Given the description of an element on the screen output the (x, y) to click on. 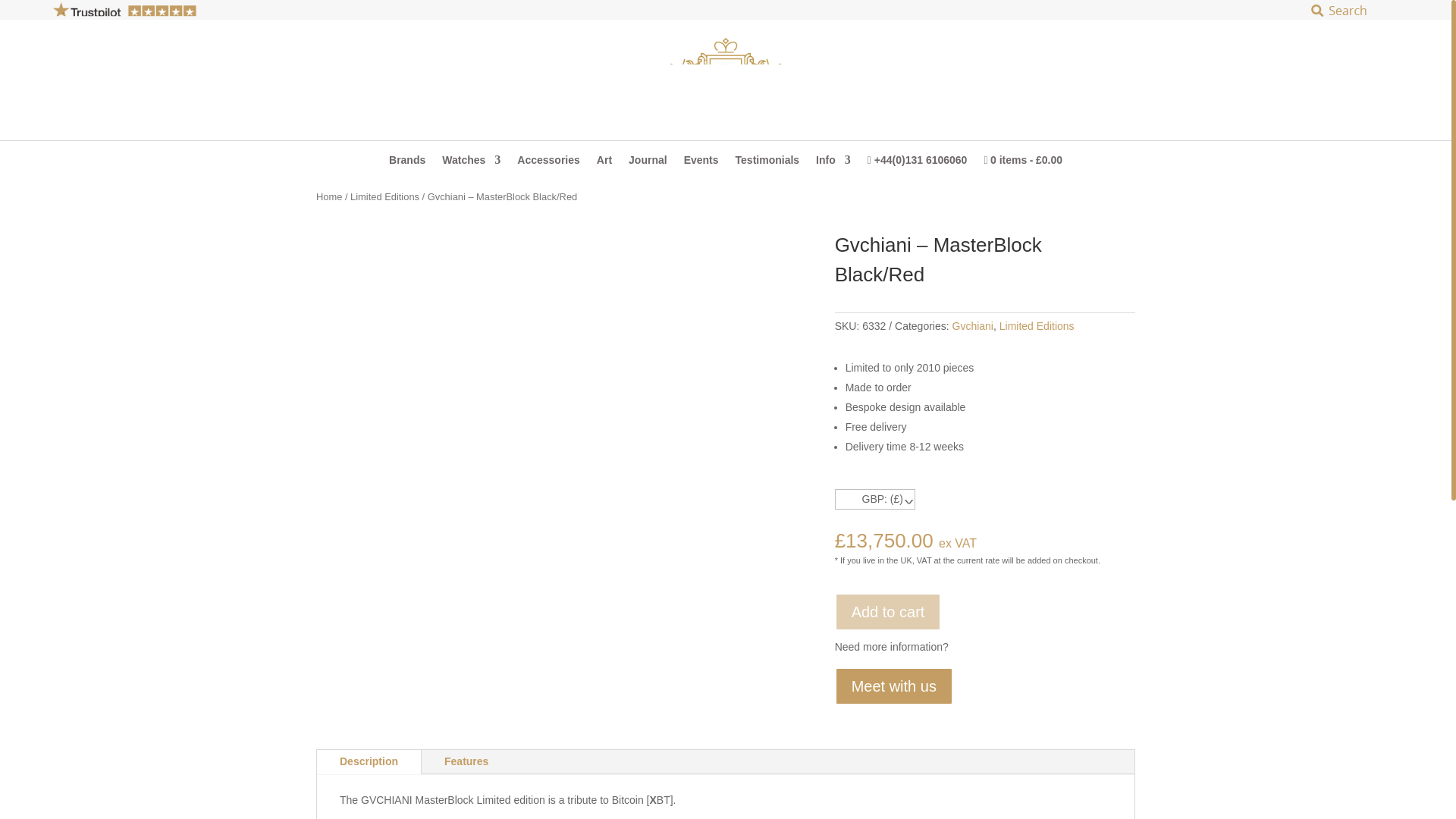
Journal (647, 163)
Limited Editions (384, 196)
Home (328, 196)
Watches (471, 163)
Limited Editions (1036, 326)
Accessories (547, 163)
Gvchiani (972, 326)
Brands (406, 163)
Add to cart (888, 611)
Testimonials (767, 163)
